Given the description of an element on the screen output the (x, y) to click on. 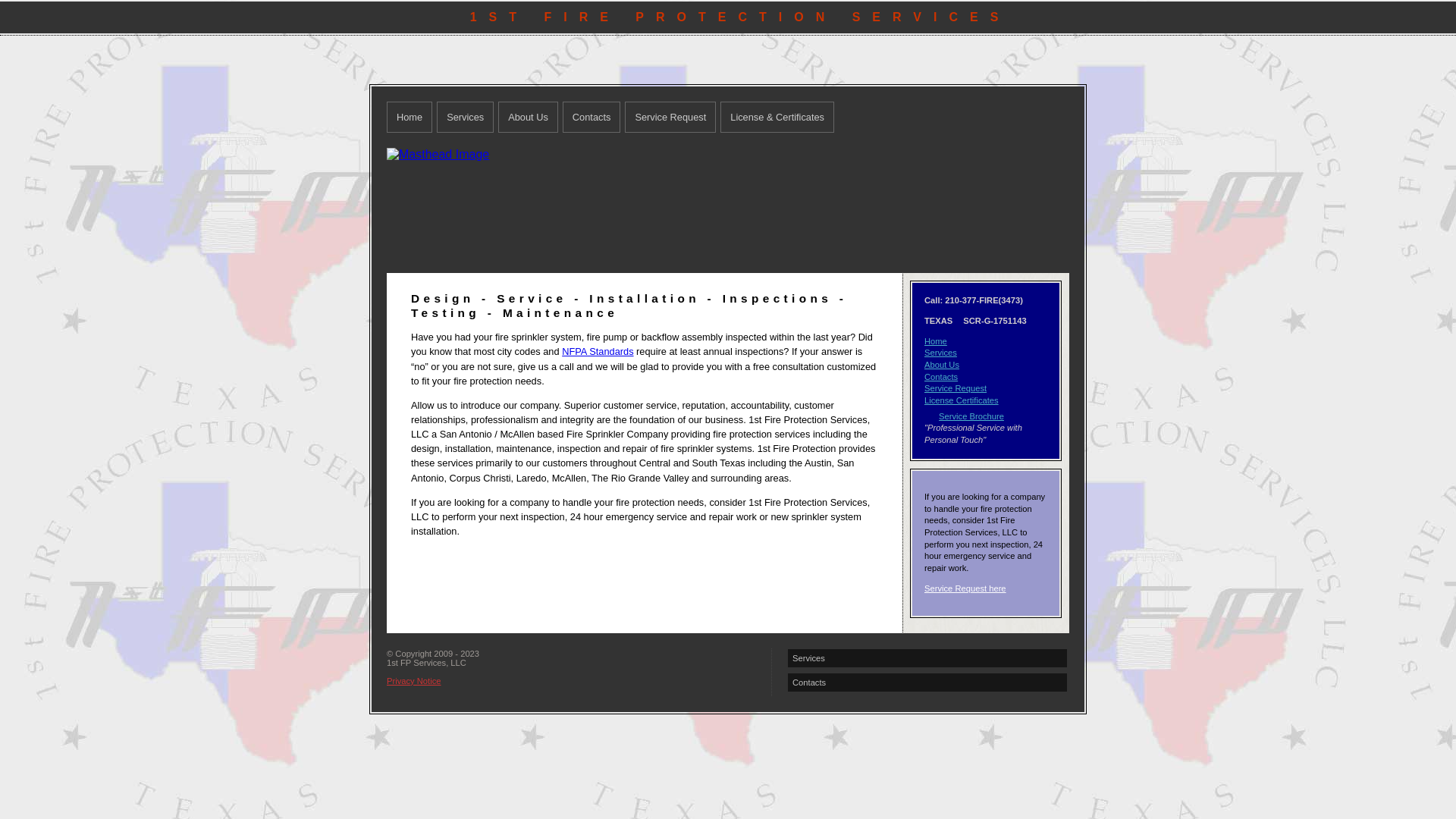
Services Element type: text (940, 352)
Contacts Element type: text (927, 682)
NFPA Standards Element type: text (597, 351)
License & Certificates Element type: text (777, 116)
Services Element type: text (927, 658)
Home Element type: text (409, 116)
License Certificates Element type: text (961, 399)
Service Request Element type: text (955, 387)
Home Element type: text (935, 340)
About Us Element type: text (528, 116)
Service Brochure Element type: text (971, 415)
Services Element type: text (464, 116)
Privacy Notice Element type: text (413, 680)
Contacts Element type: text (591, 116)
Service Request here Element type: text (965, 588)
Contacts Element type: text (940, 376)
About Us Element type: text (941, 364)
Service Request Element type: text (669, 116)
